Given the description of an element on the screen output the (x, y) to click on. 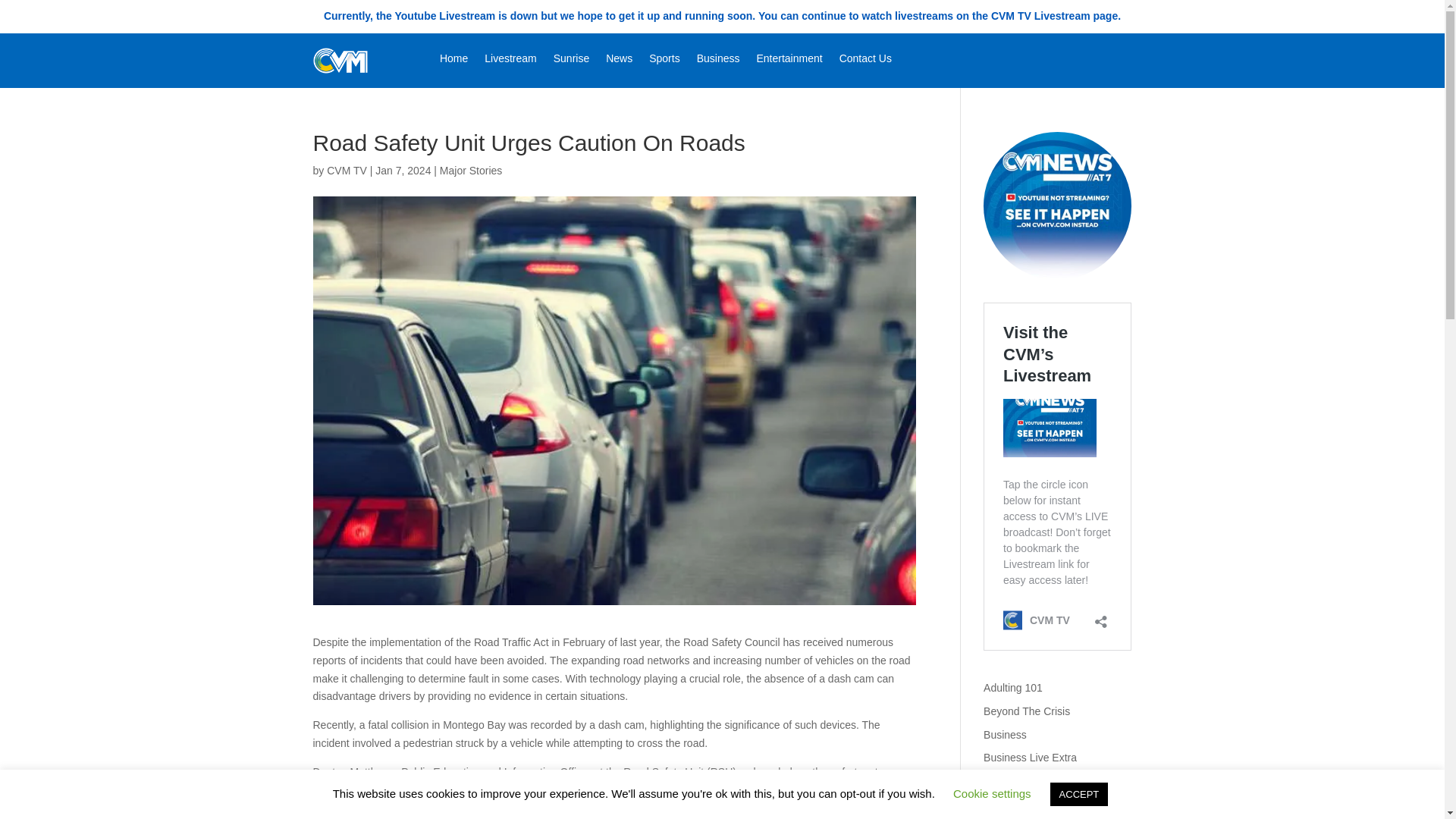
COVID-19 (1008, 804)
Sunrise (571, 61)
Major Stories (470, 170)
Livestream (509, 61)
Beyond The Crisis (1027, 711)
Business (1005, 734)
News (618, 61)
Home (453, 61)
Contact Us (865, 61)
Posts by CVM TV (346, 170)
